Given the description of an element on the screen output the (x, y) to click on. 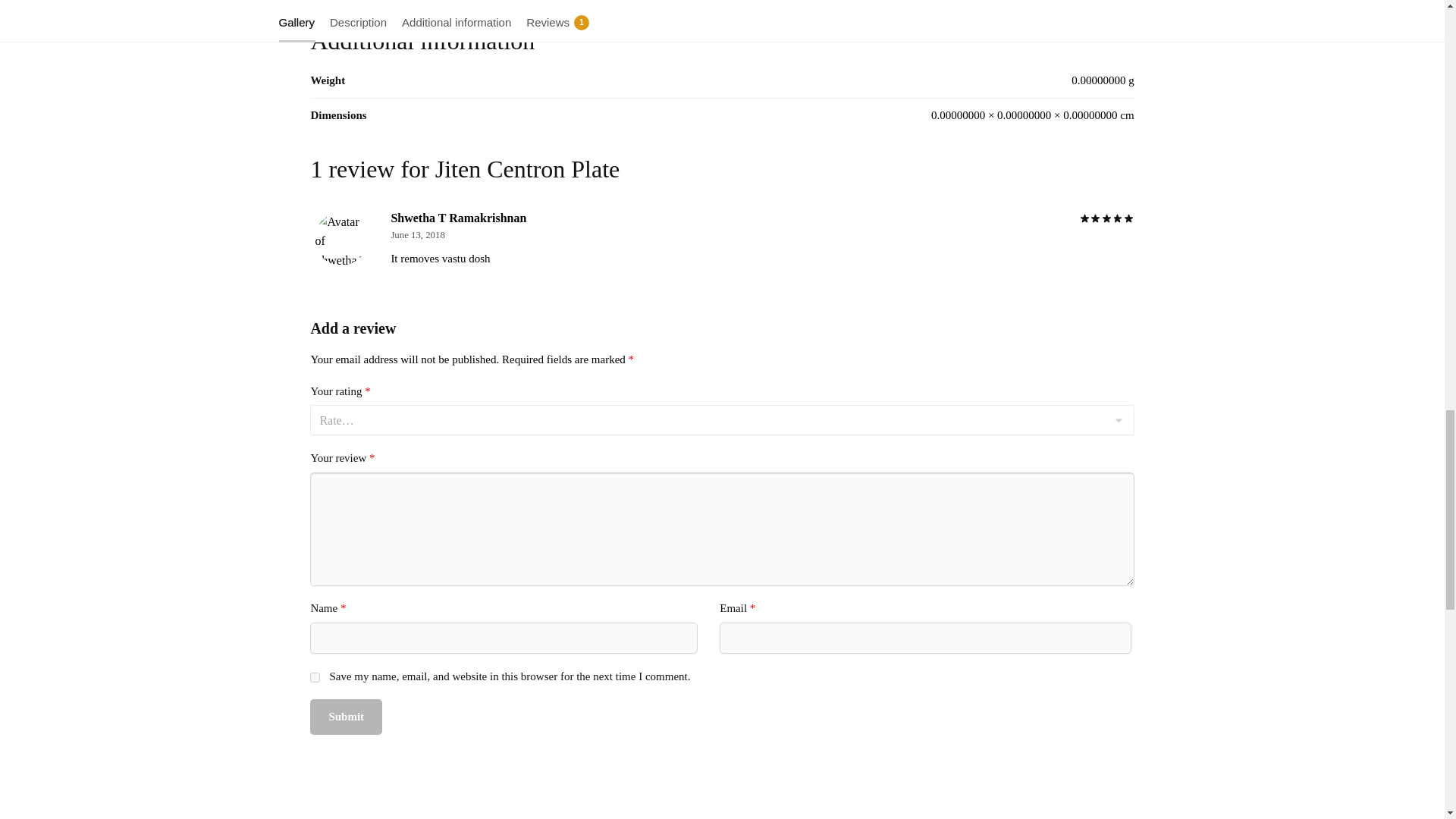
Submit (345, 716)
yes (315, 677)
